Given the description of an element on the screen output the (x, y) to click on. 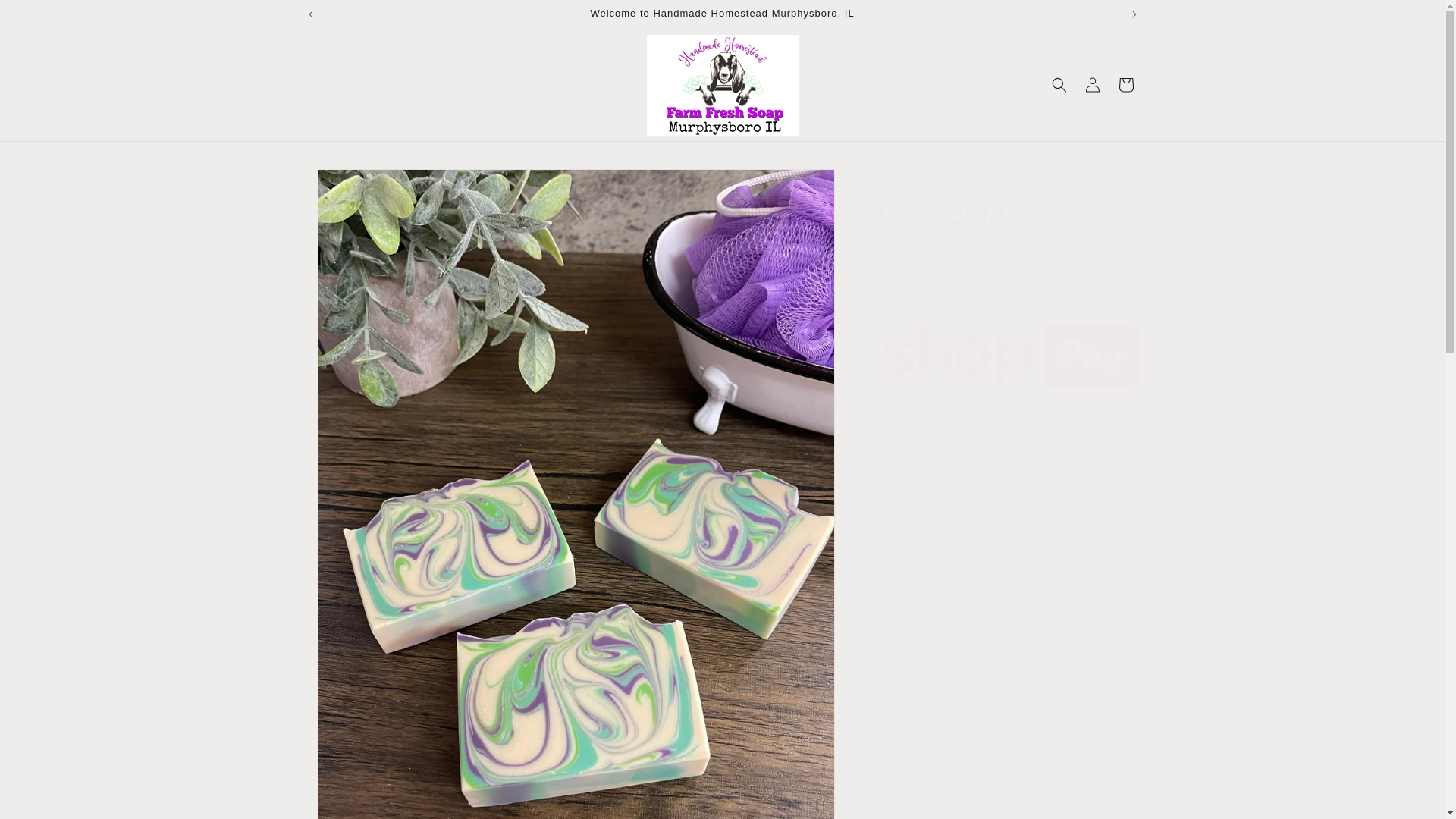
Cart (1124, 84)
Skip to product information (350, 185)
Skip to content (45, 17)
Decrease quantity for Gardenia (894, 456)
Increase quantity for Gardenia (967, 456)
Shipping (897, 276)
1 (931, 456)
Add to cart (1008, 510)
Log in (1091, 84)
